Given the description of an element on the screen output the (x, y) to click on. 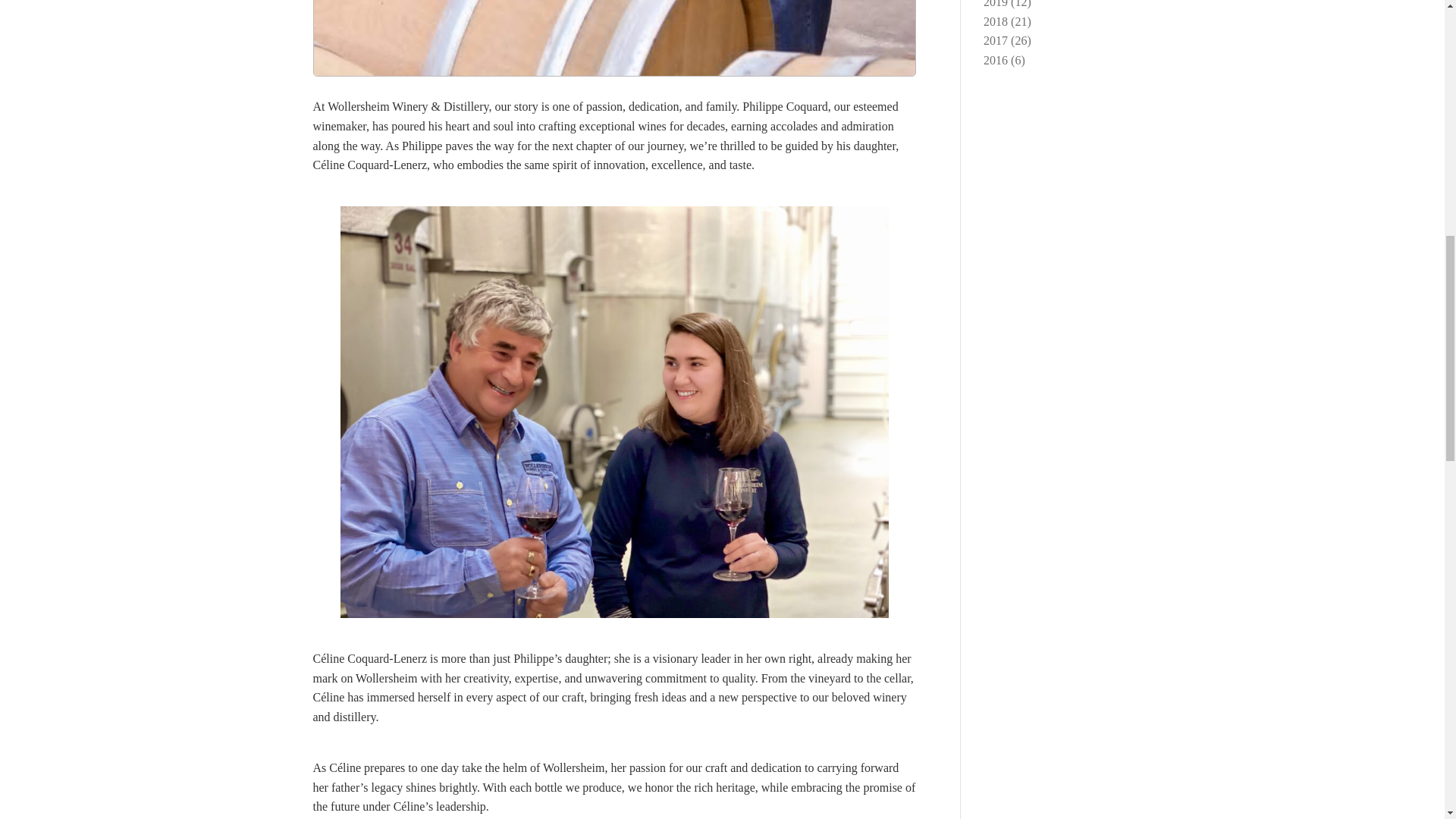
FareHarbor (1342, 64)
